Given the description of an element on the screen output the (x, y) to click on. 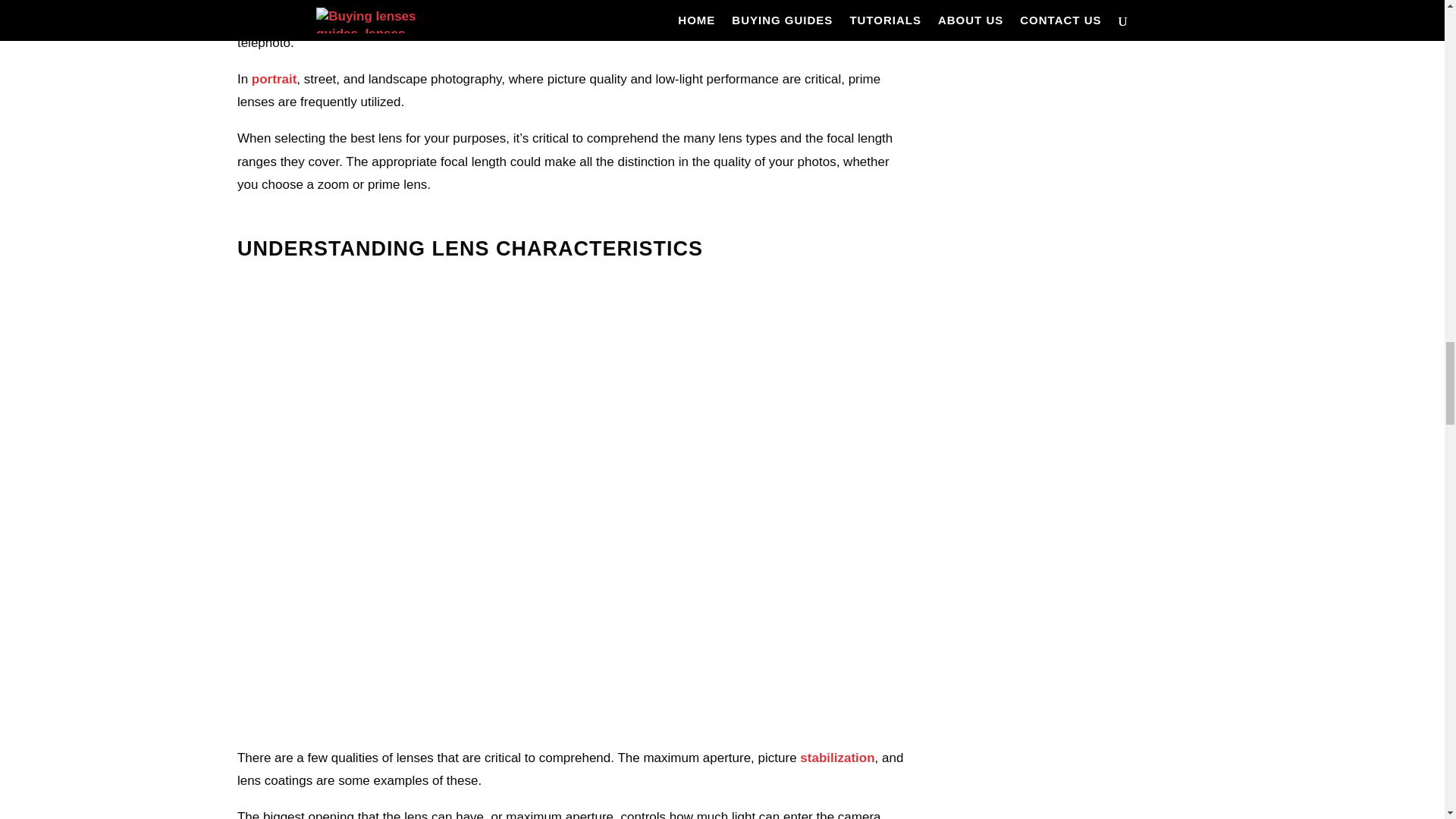
picture stabilization guide (837, 757)
stabilization (837, 757)
portrait (274, 79)
